Given the description of an element on the screen output the (x, y) to click on. 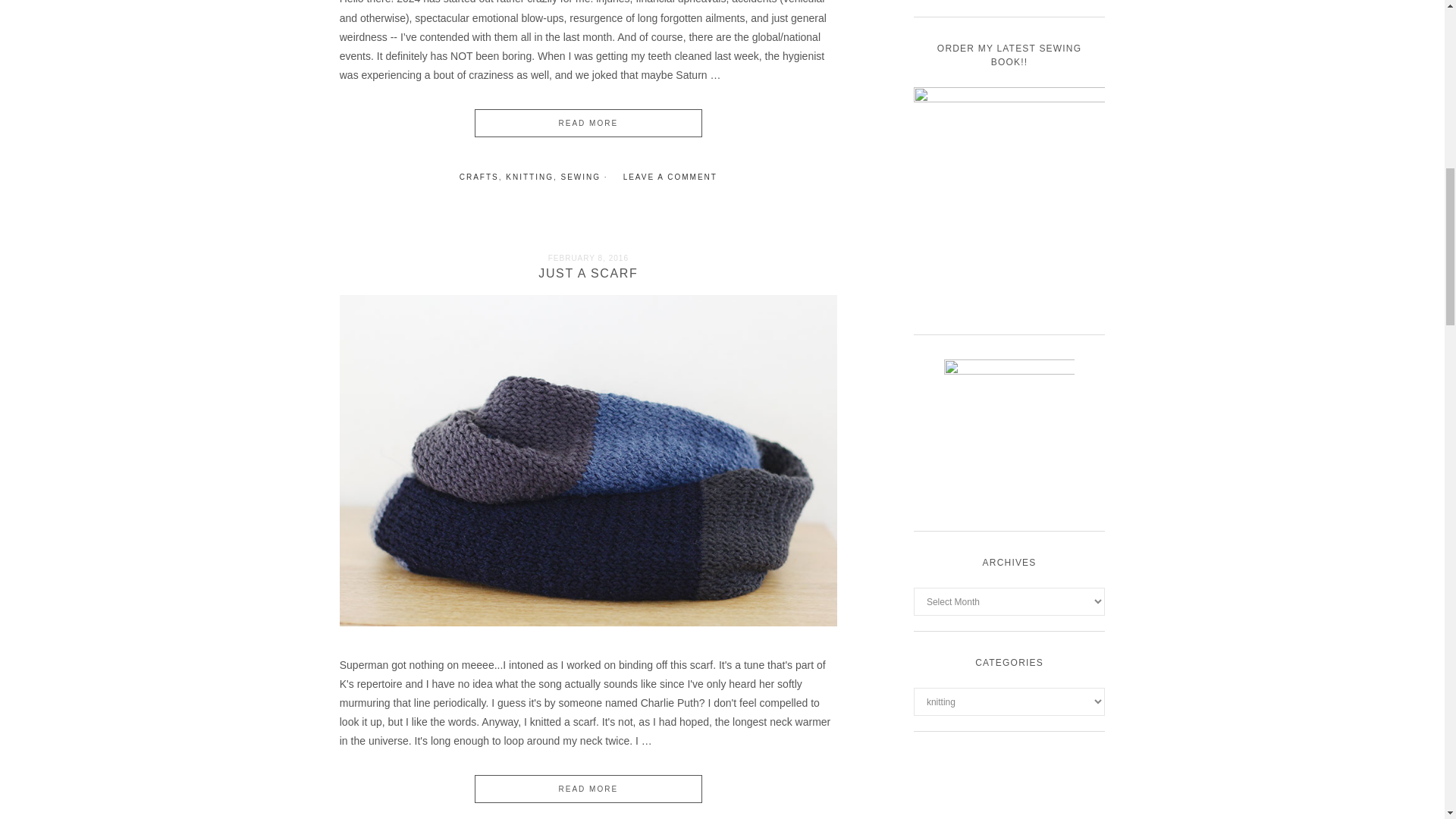
READ MORE (587, 788)
KNITTING (529, 176)
READ MORE (587, 122)
SEWING (580, 176)
LEAVE A COMMENT (670, 176)
CRAFTS (479, 176)
JUST A SCARF (587, 273)
